Given the description of an element on the screen output the (x, y) to click on. 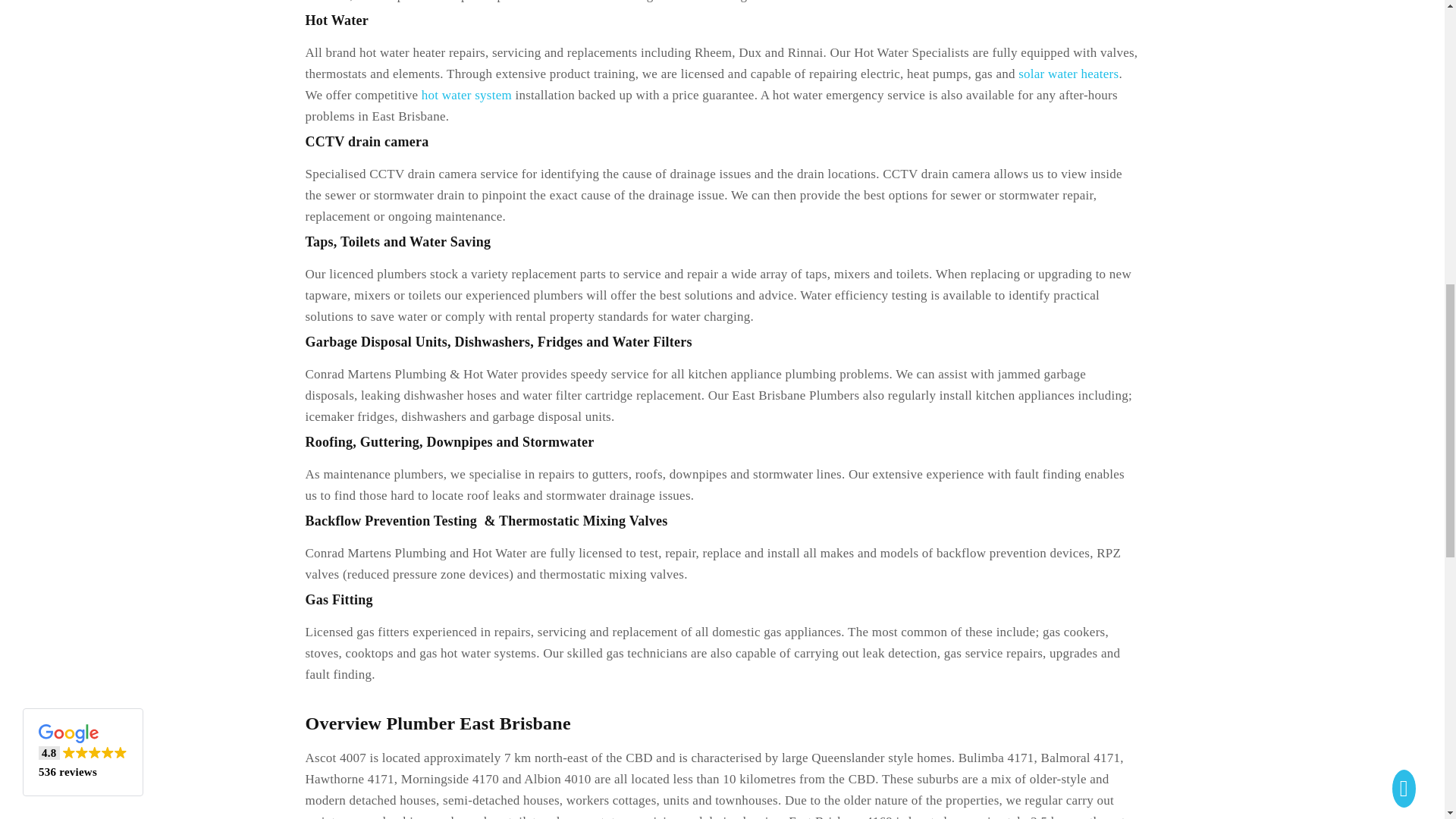
solar water heaters (1067, 73)
hot water system (467, 94)
hot water system (467, 94)
